Given the description of an element on the screen output the (x, y) to click on. 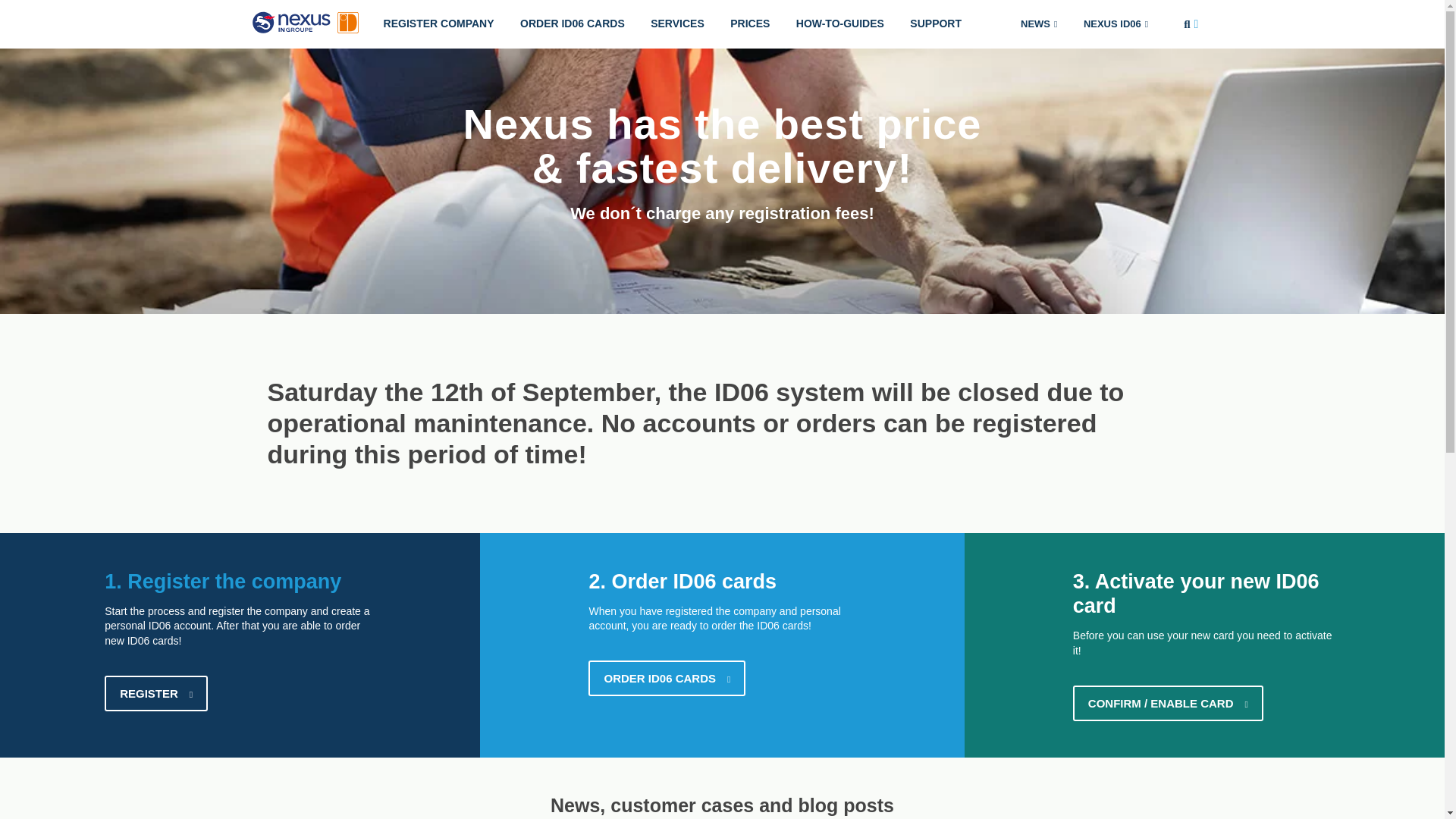
NEWS (1038, 24)
SERVICES (677, 23)
REGISTER COMPANY (438, 23)
NEXUS ID06 (1114, 24)
ORDER ID06 CARDS (666, 678)
HOW-TO-GUIDES (839, 23)
ORDER ID06 CARDS (572, 23)
REGISTER (156, 693)
PRICES (749, 23)
SUPPORT (935, 23)
